Given the description of an element on the screen output the (x, y) to click on. 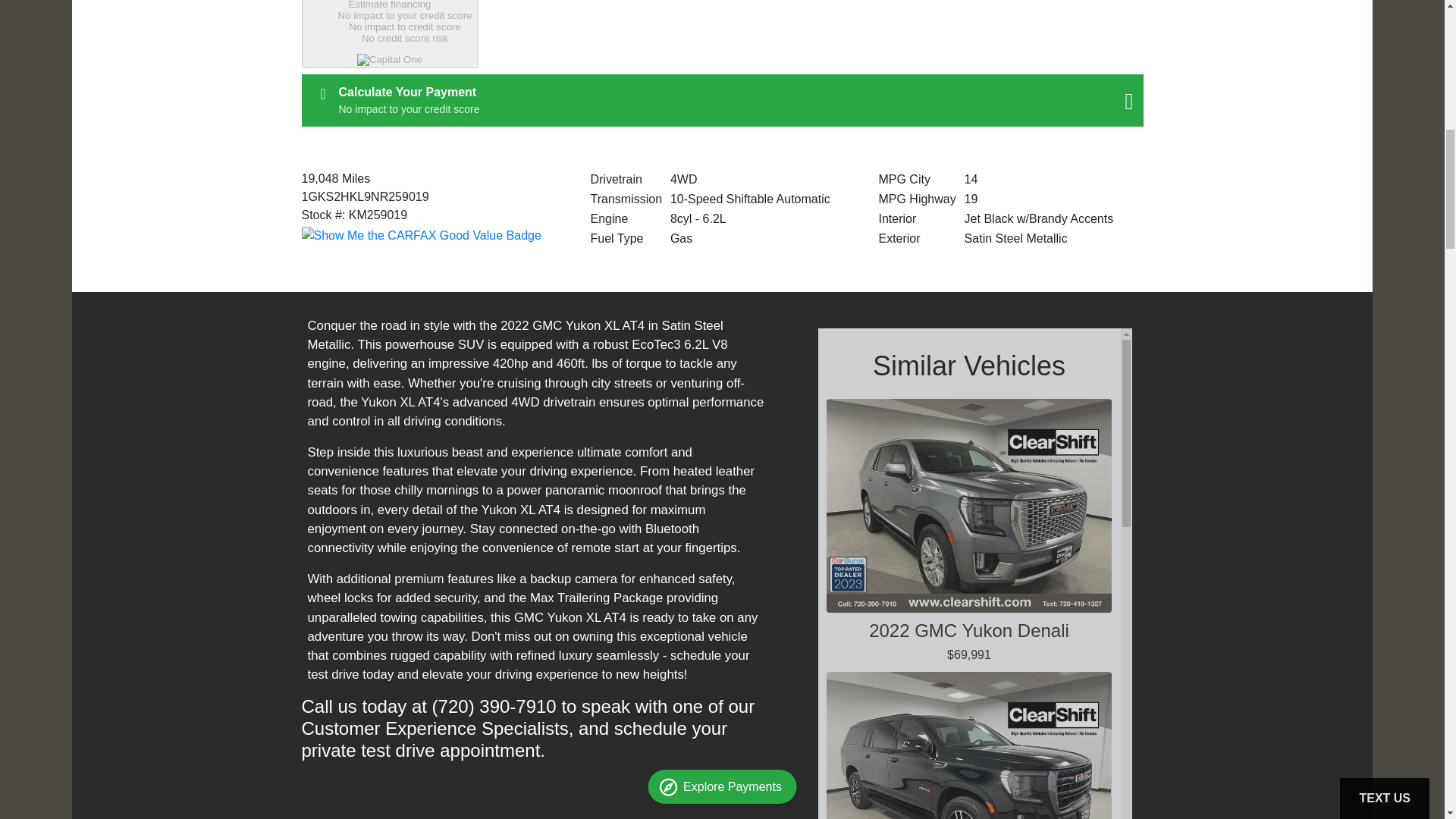
Get Pre-qualified powered by Capital One (721, 100)
